Given the description of an element on the screen output the (x, y) to click on. 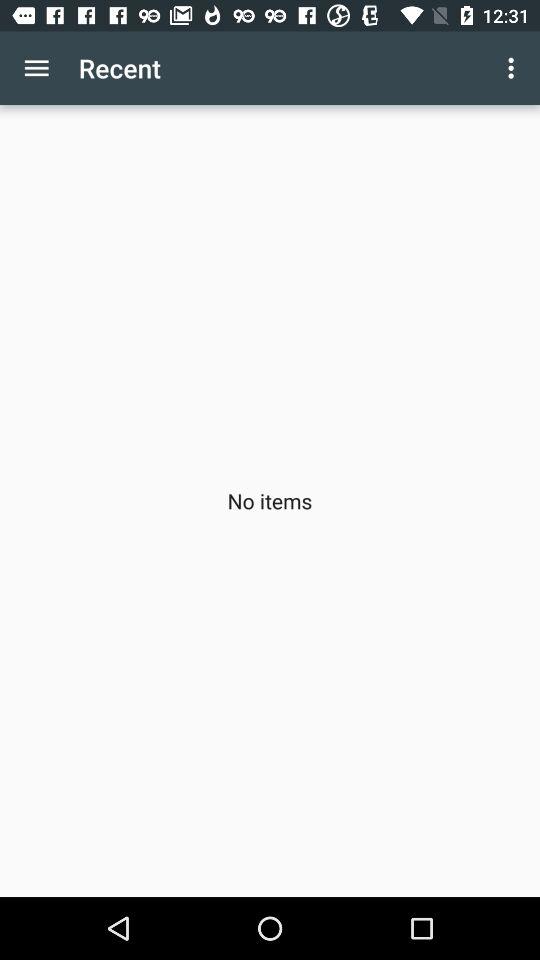
choose app to the left of the recent icon (36, 68)
